Given the description of an element on the screen output the (x, y) to click on. 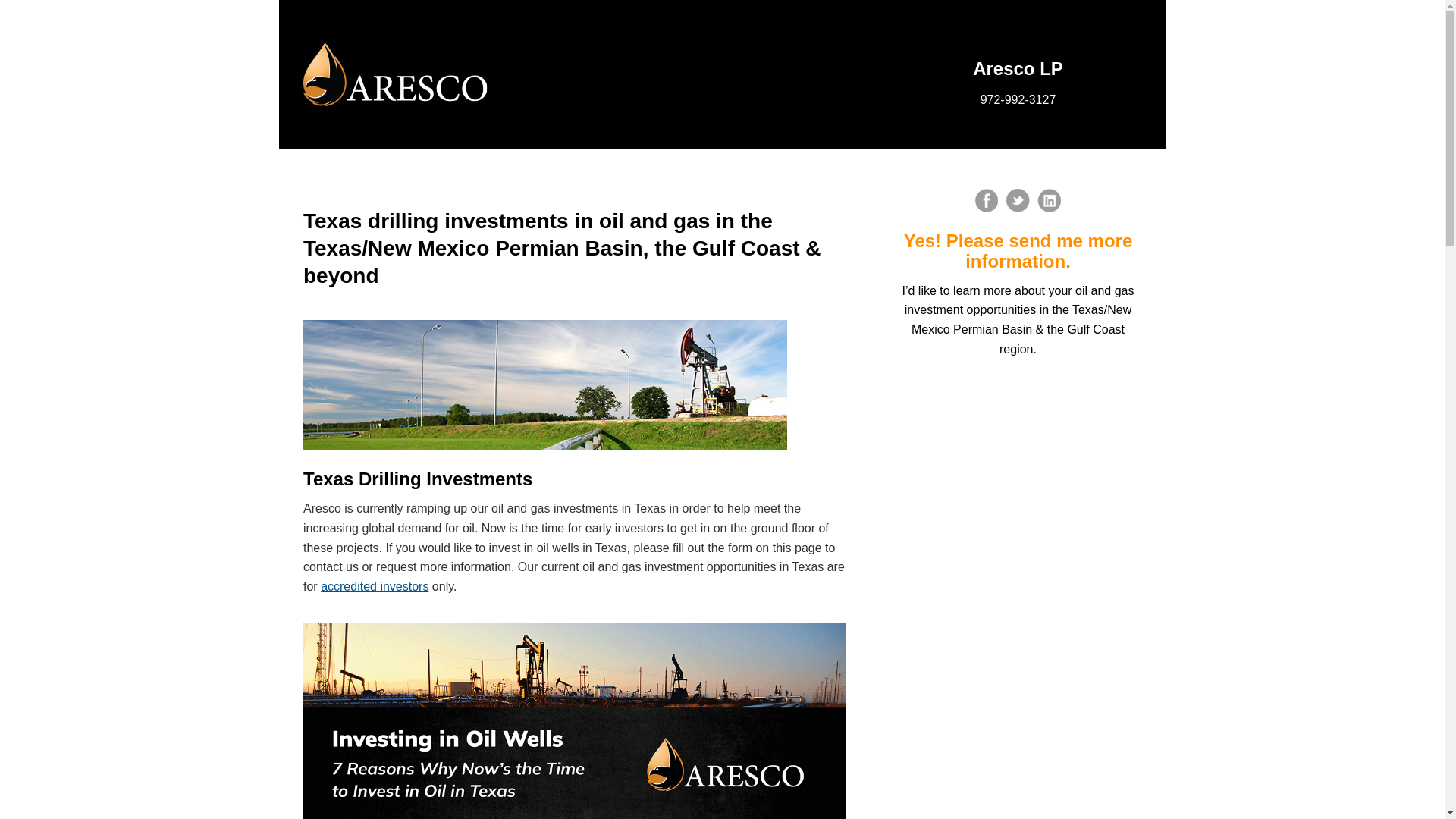
accredited investors (374, 585)
Invest in Oil Wells Aresco (573, 720)
Oil Investing with Aresco (394, 74)
